Given the description of an element on the screen output the (x, y) to click on. 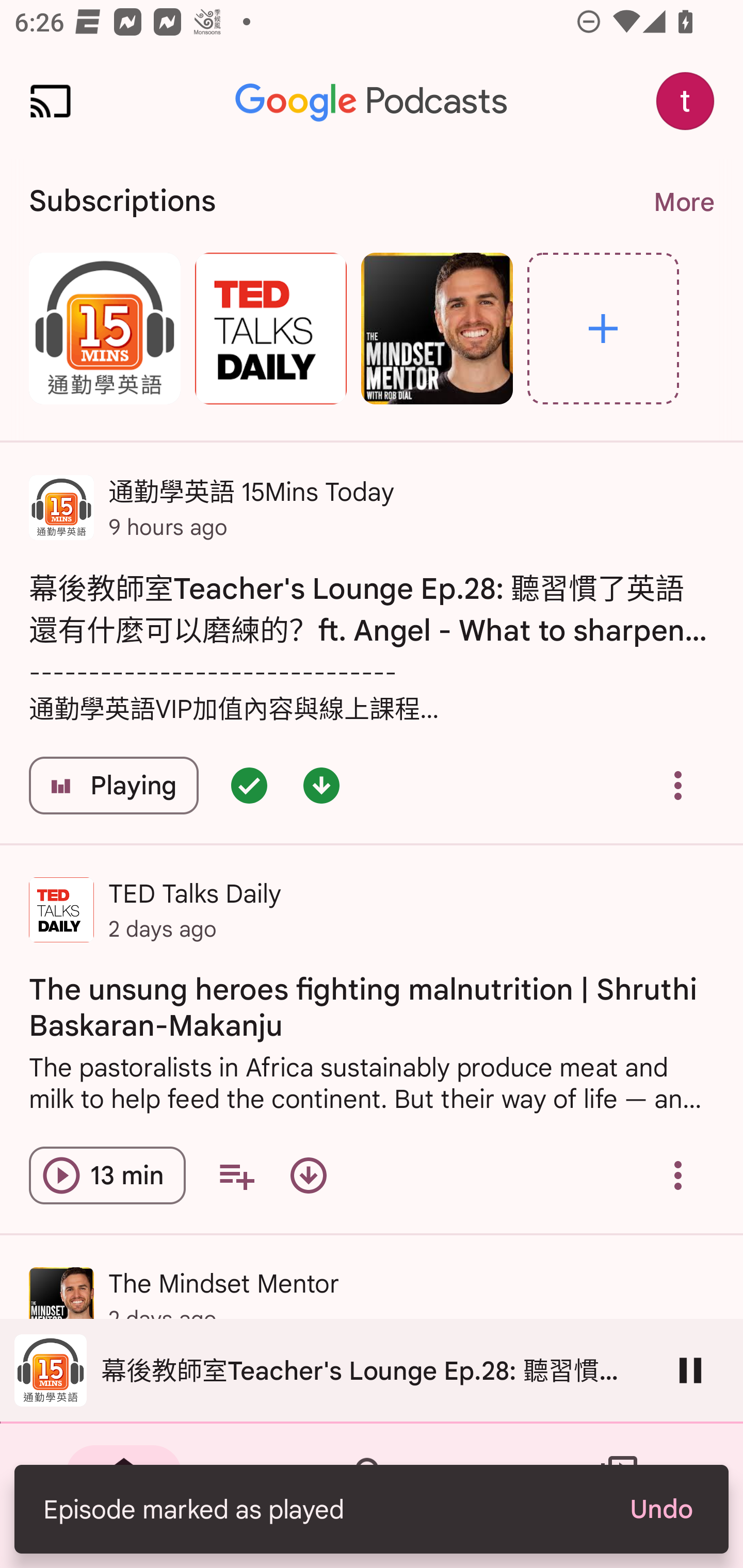
Cast. Disconnected (50, 101)
More More. Navigate to subscriptions page. (683, 202)
通勤學英語 15Mins Today (104, 328)
TED Talks Daily (270, 328)
The Mindset Mentor (436, 328)
Explore (603, 328)
Episode queued - double tap for options (249, 785)
Episode downloaded - double tap for options (321, 785)
Overflow menu (677, 785)
Add to your queue (235, 1175)
Download episode (308, 1175)
Overflow menu (677, 1175)
Pause (690, 1370)
Undo (660, 1509)
